Given the description of an element on the screen output the (x, y) to click on. 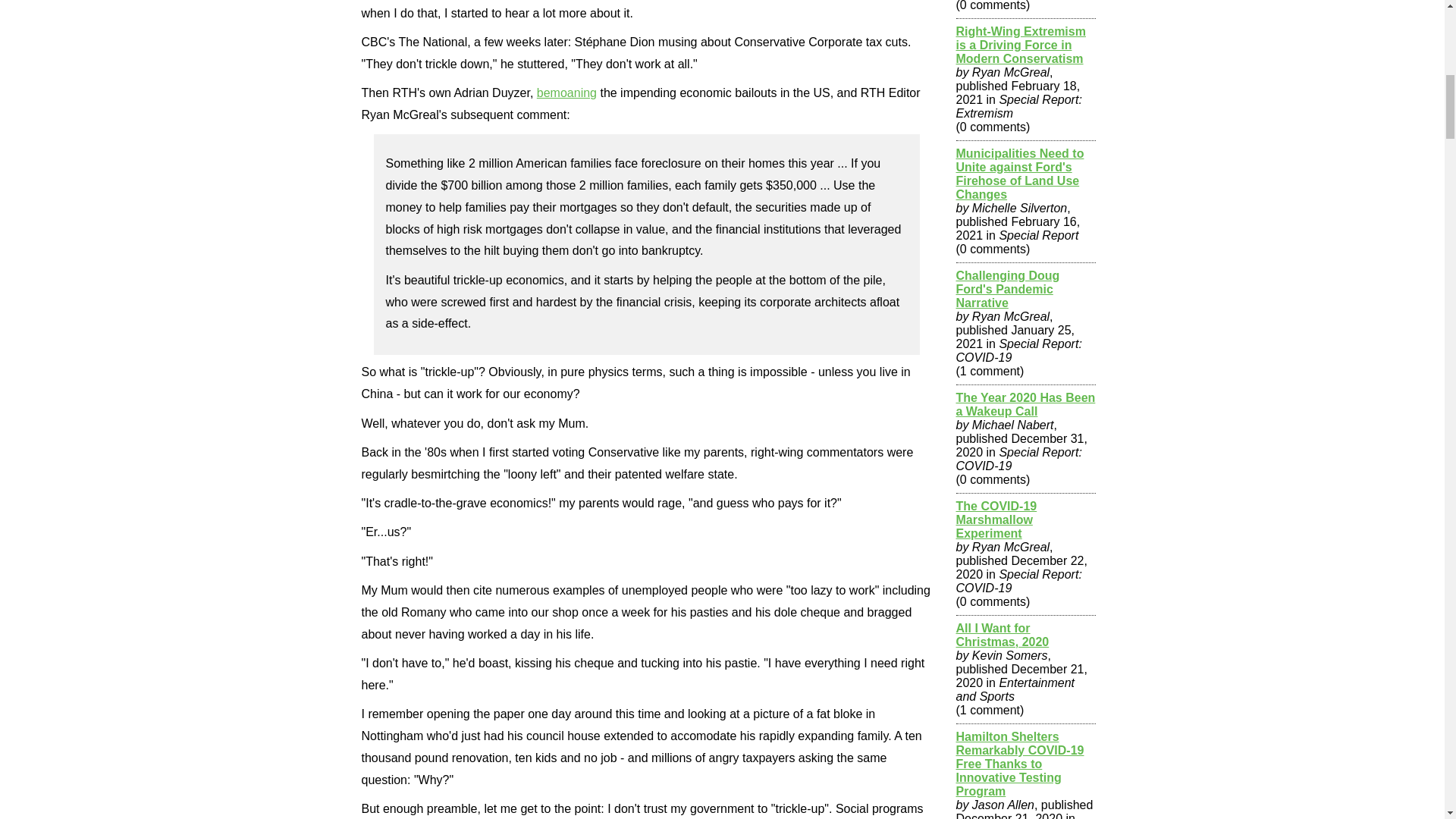
bemoaning (566, 92)
